Given the description of an element on the screen output the (x, y) to click on. 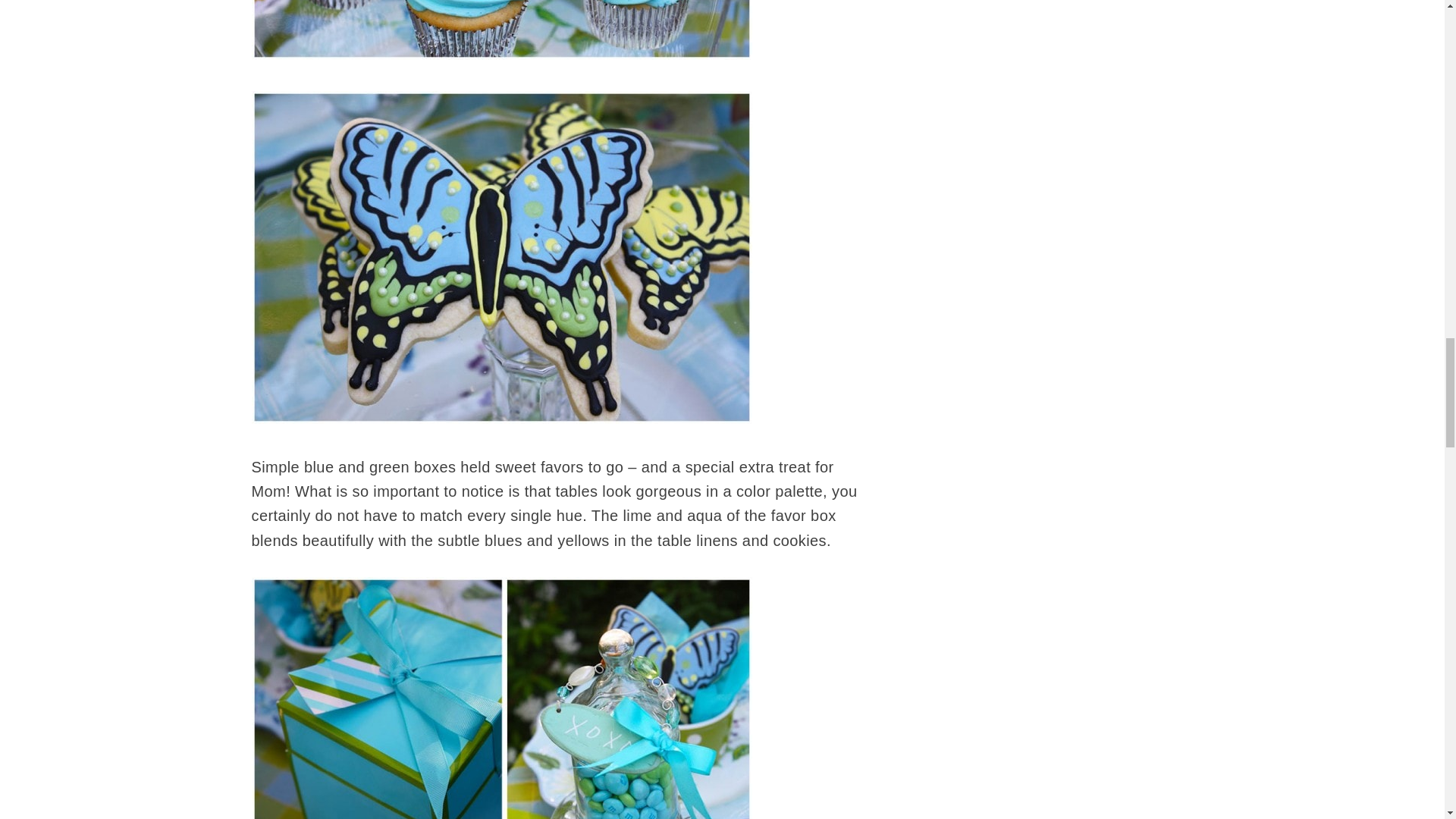
mothers day butterfly table 6 (501, 29)
mothers day butterfly table 8 (501, 698)
